Given the description of an element on the screen output the (x, y) to click on. 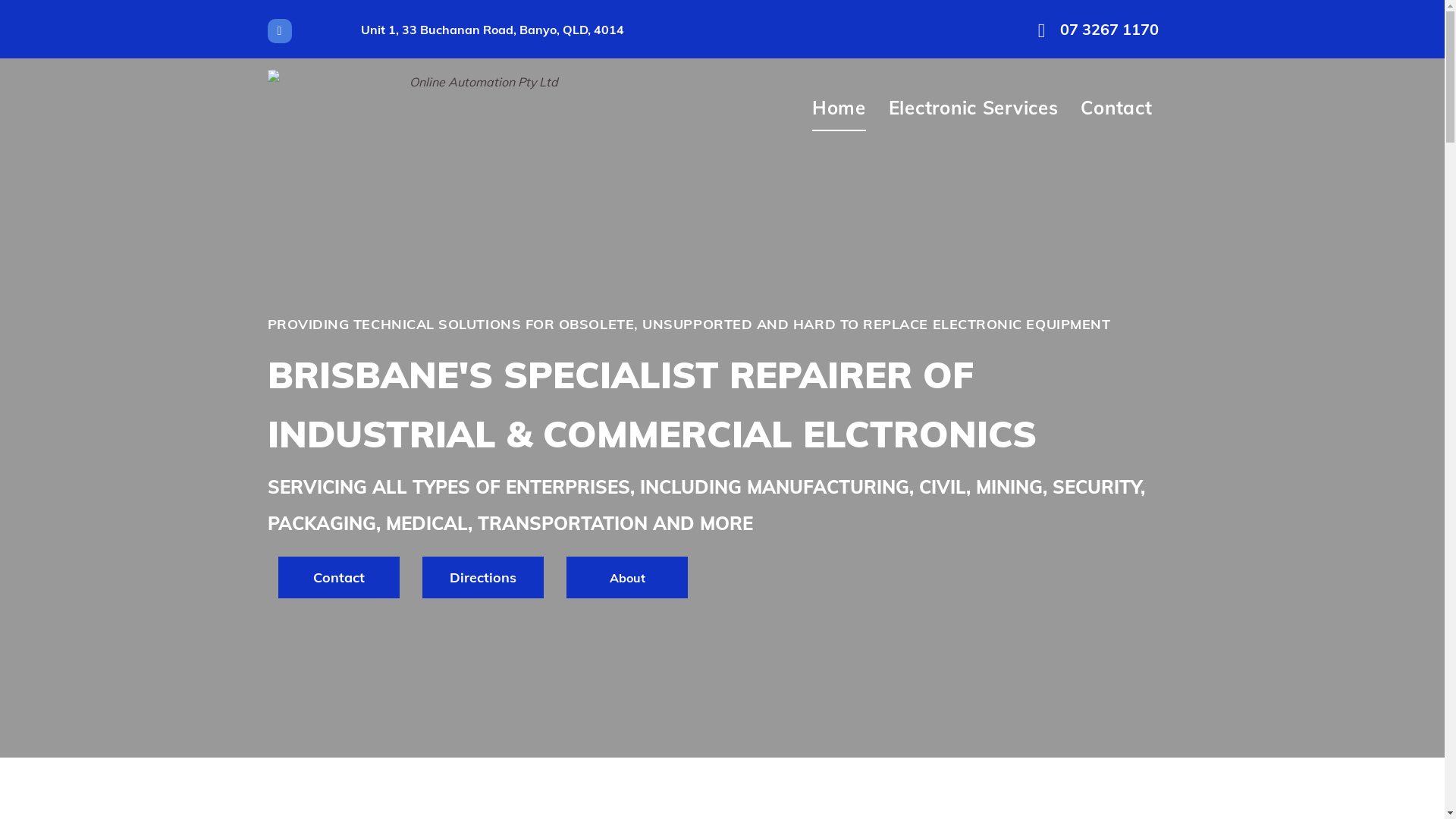
Home Element type: text (838, 107)
About Element type: text (626, 577)
Contact Element type: text (1116, 107)
07 3267 1170 Element type: text (1099, 29)
Unit 1, 33 Buchanan Road, Banyo, QLD Element type: text (473, 29)
Contact Element type: text (338, 577)
Online Automation Pty Ltd Element type: hover (476, 107)
Directions Element type: text (482, 577)
Electronic Services Element type: text (973, 107)
